Given the description of an element on the screen output the (x, y) to click on. 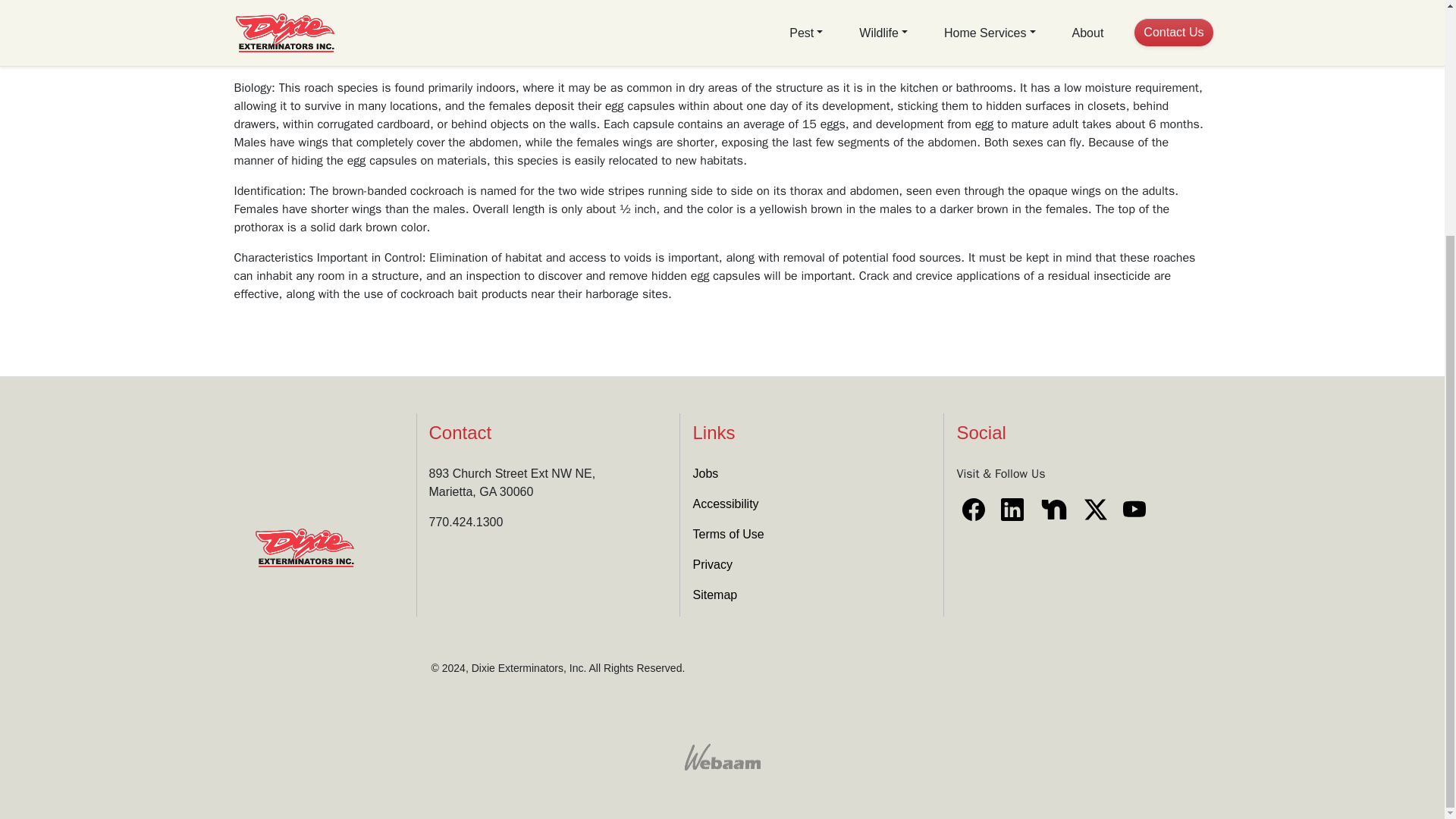
Sitemap (714, 594)
LinkedIn Logo (1012, 508)
Facebook Logo (973, 508)
YouTube Logo (1133, 508)
Jobs (705, 472)
Privacy (712, 563)
Dixie Exterminators Logo (304, 547)
LinkedIn Logo (1013, 508)
Facebook Logo (975, 508)
YouTube Logo (1133, 508)
